Given the description of an element on the screen output the (x, y) to click on. 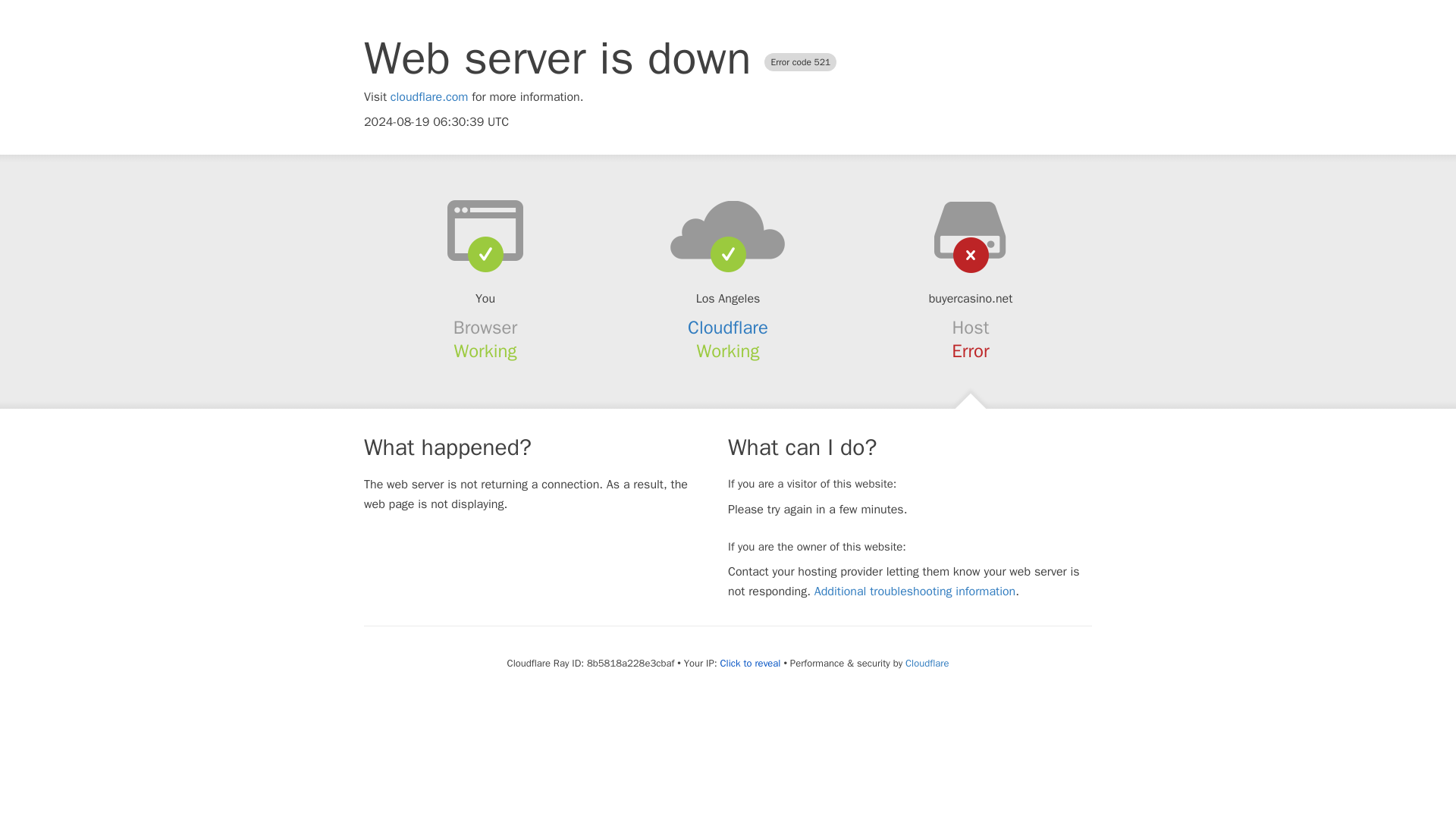
Click to reveal (750, 663)
Additional troubleshooting information (913, 590)
cloudflare.com (429, 96)
Cloudflare (927, 662)
Cloudflare (727, 327)
